Given the description of an element on the screen output the (x, y) to click on. 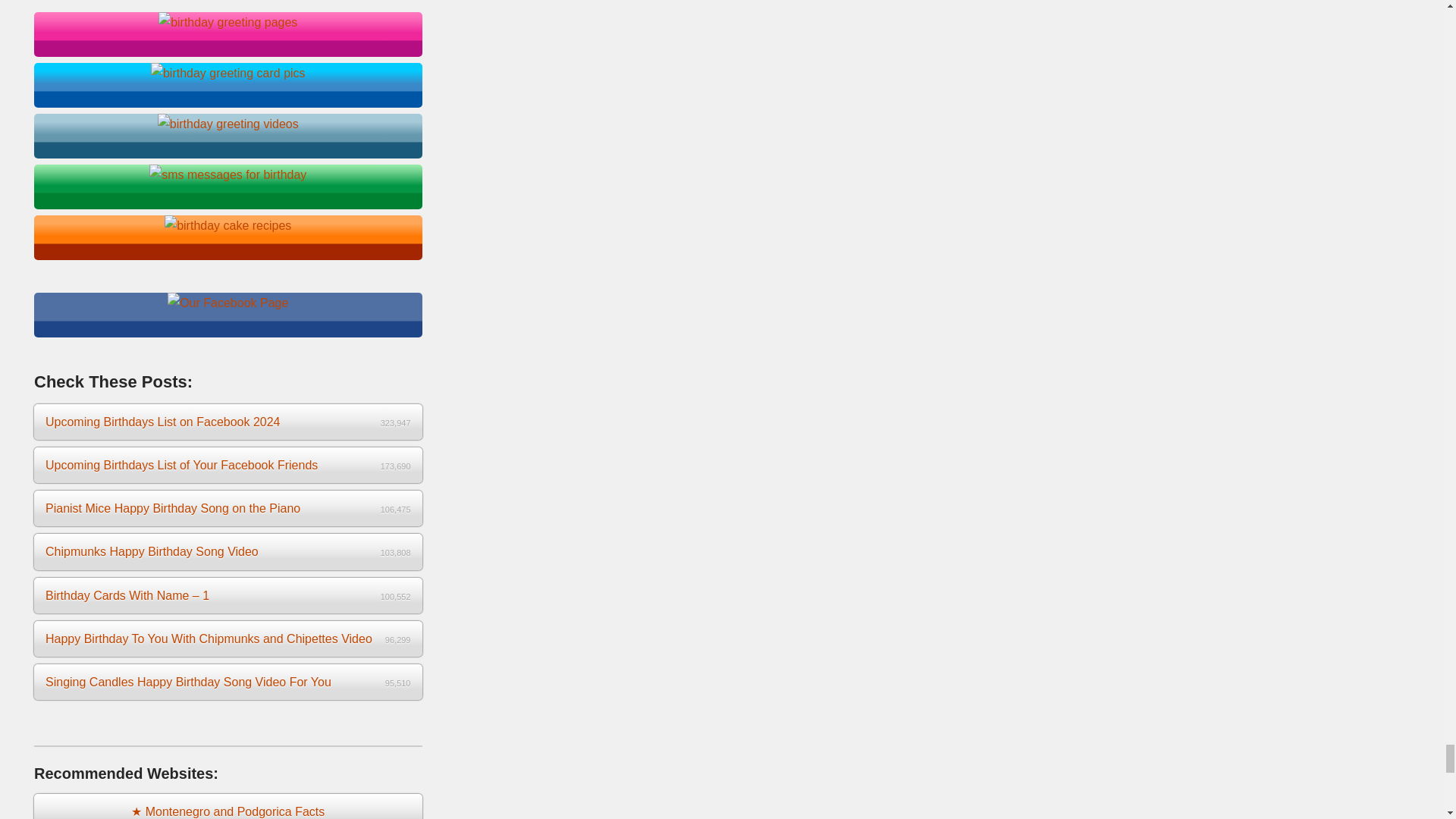
Singing Candles Happy Birthday Song Video For You (227, 682)
Chipmunks Happy Birthday Song Video (227, 551)
Pianist Mice Happy Birthday Song on the Piano (227, 508)
Happy Birthday To You With Chipmunks and Chipettes Video (227, 638)
Upcoming Birthdays List on Facebook 2024 (227, 421)
Upcoming Birthdays List of Your Facebook Friends (227, 465)
